Given the description of an element on the screen output the (x, y) to click on. 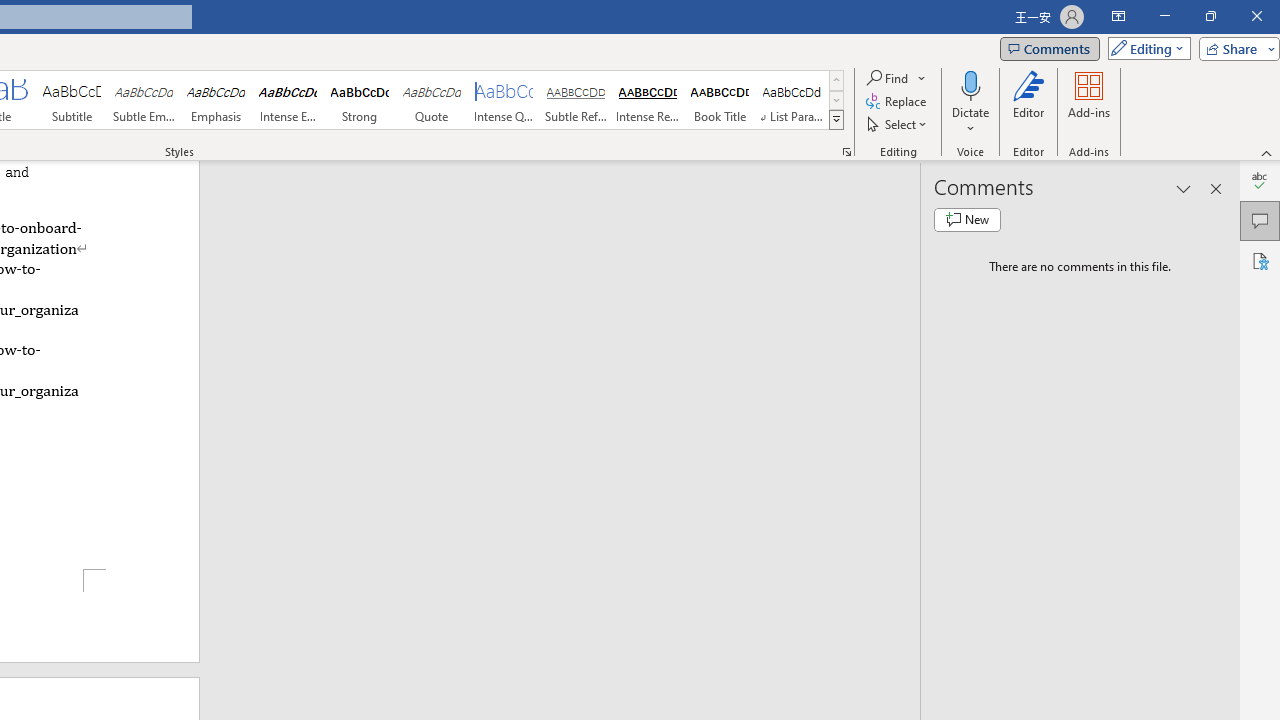
Find (896, 78)
Intense Reference (647, 100)
Minimize (1164, 16)
Comments (1049, 48)
Share (1235, 48)
Accessibility (1260, 260)
Find (888, 78)
Editor (1260, 180)
Book Title (719, 100)
Quote (431, 100)
Dictate (970, 84)
Select (898, 124)
Dictate (970, 102)
Replace... (897, 101)
